Given the description of an element on the screen output the (x, y) to click on. 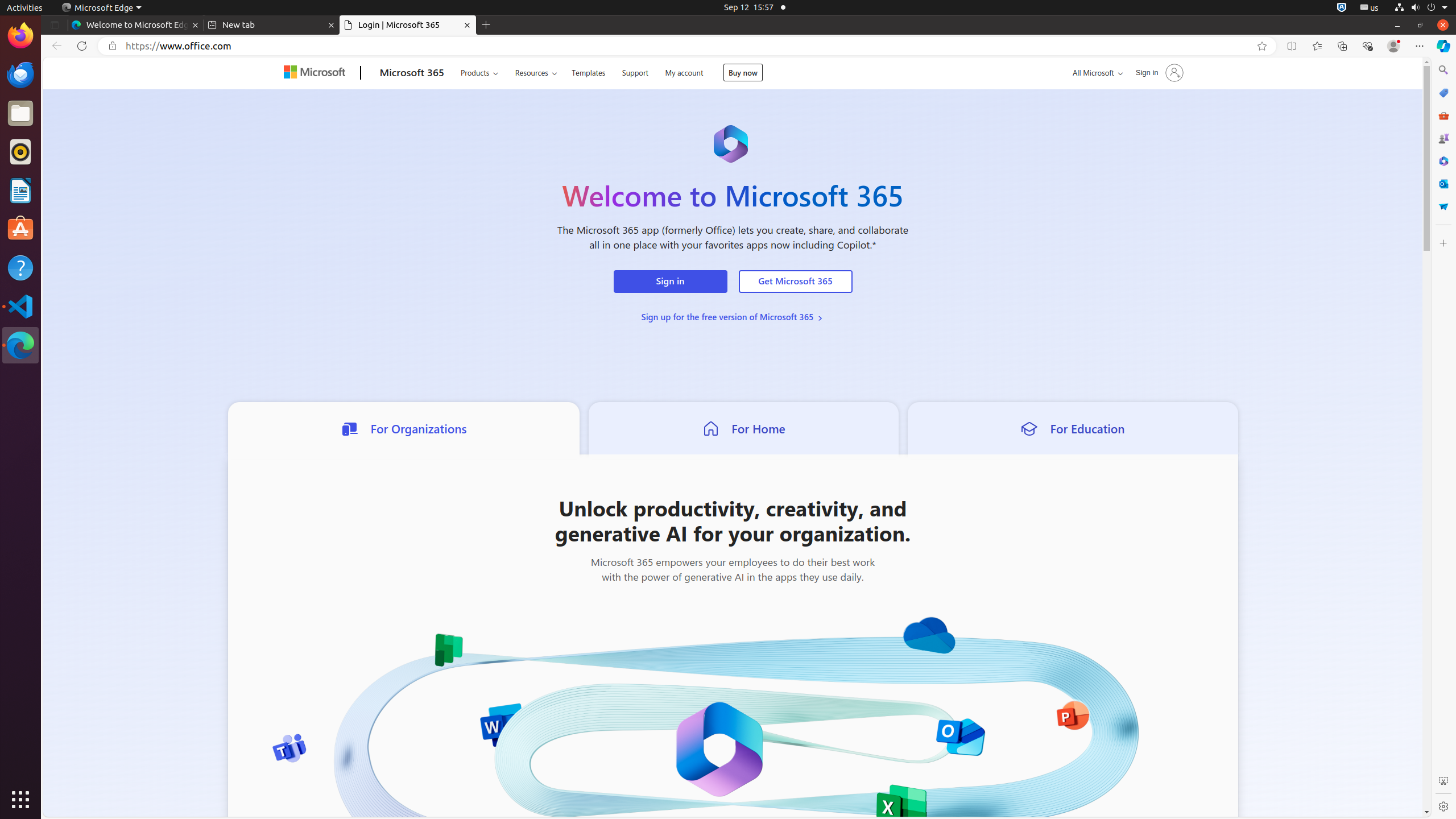
Profile 1 Profile, Please sign in Element type: push-button (1392, 46)
Login | Microsoft 365 Element type: page-tab (407, 25)
Ubuntu Software Element type: push-button (20, 229)
Microsoft Element type: link (316, 73)
Support Element type: link (634, 71)
